Given the description of an element on the screen output the (x, y) to click on. 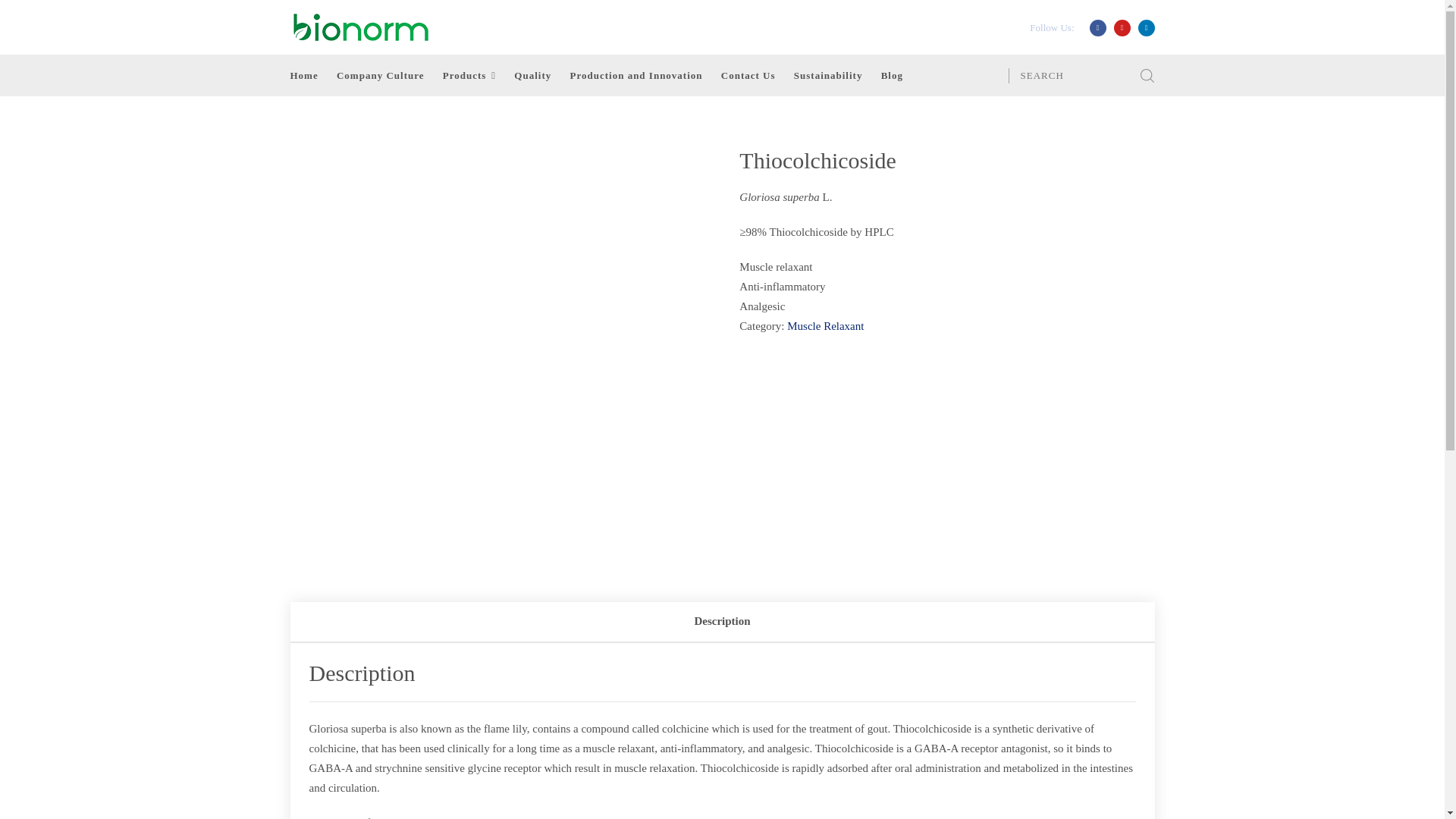
Company Culture (380, 75)
Muscle Relaxant (825, 326)
Description (721, 621)
Quality (532, 75)
Production and Innovation (636, 75)
Products (469, 75)
pharmaceutical (448, 817)
Contact Us (748, 75)
Sustainability (828, 75)
